Given the description of an element on the screen output the (x, y) to click on. 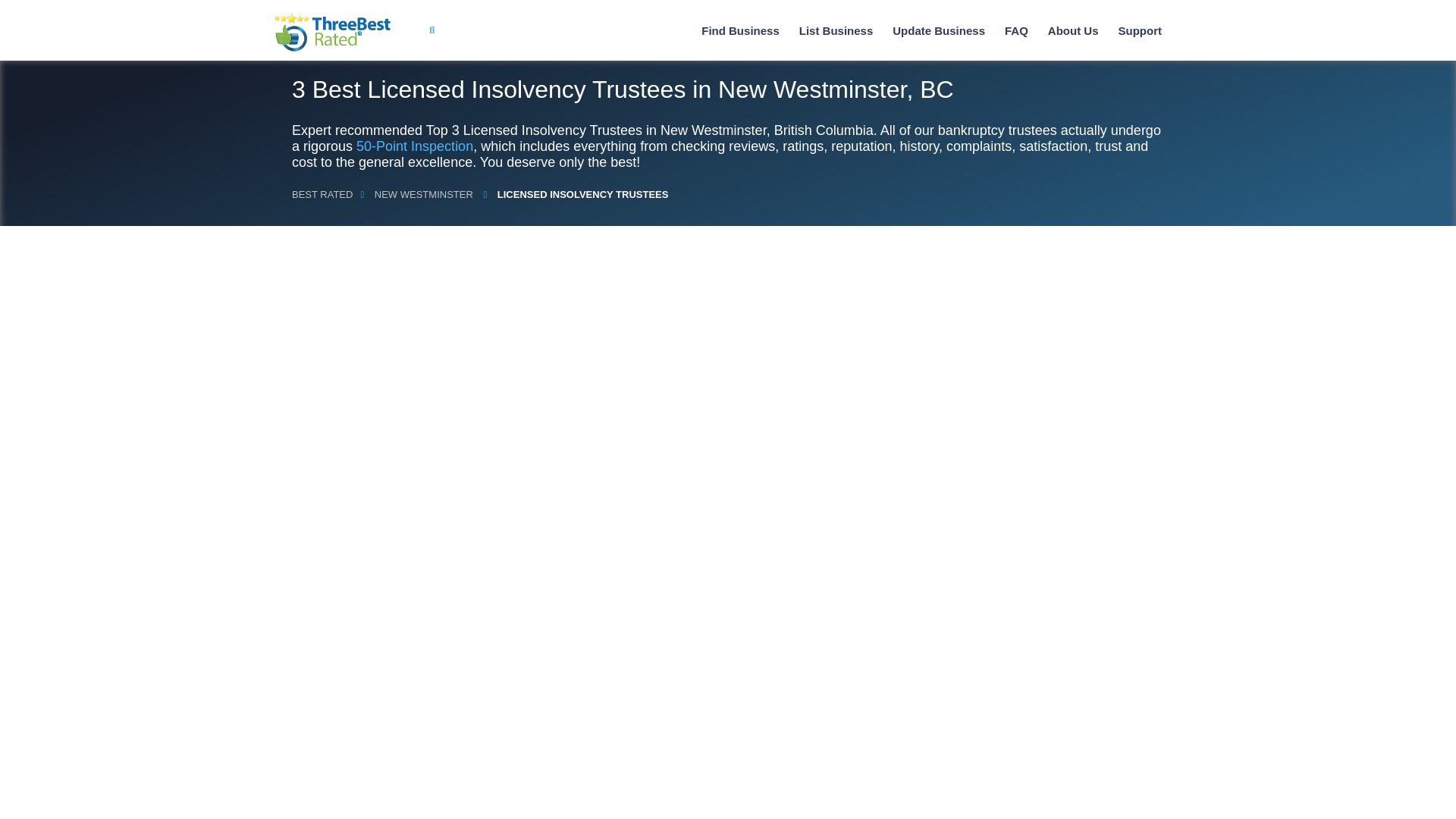
NEW WESTMINSTER (423, 194)
ThreeBestRated.ca (331, 32)
About Us (1073, 30)
List Business (836, 30)
Update your business for Free! (938, 30)
Support (1139, 30)
BEST RATED (321, 194)
How does Three Best Rated Canada work? (1073, 30)
50-Point Inspection (414, 145)
FAQ (1016, 30)
List your business for Free! (836, 30)
Find Business (740, 30)
Update Business (938, 30)
